Given the description of an element on the screen output the (x, y) to click on. 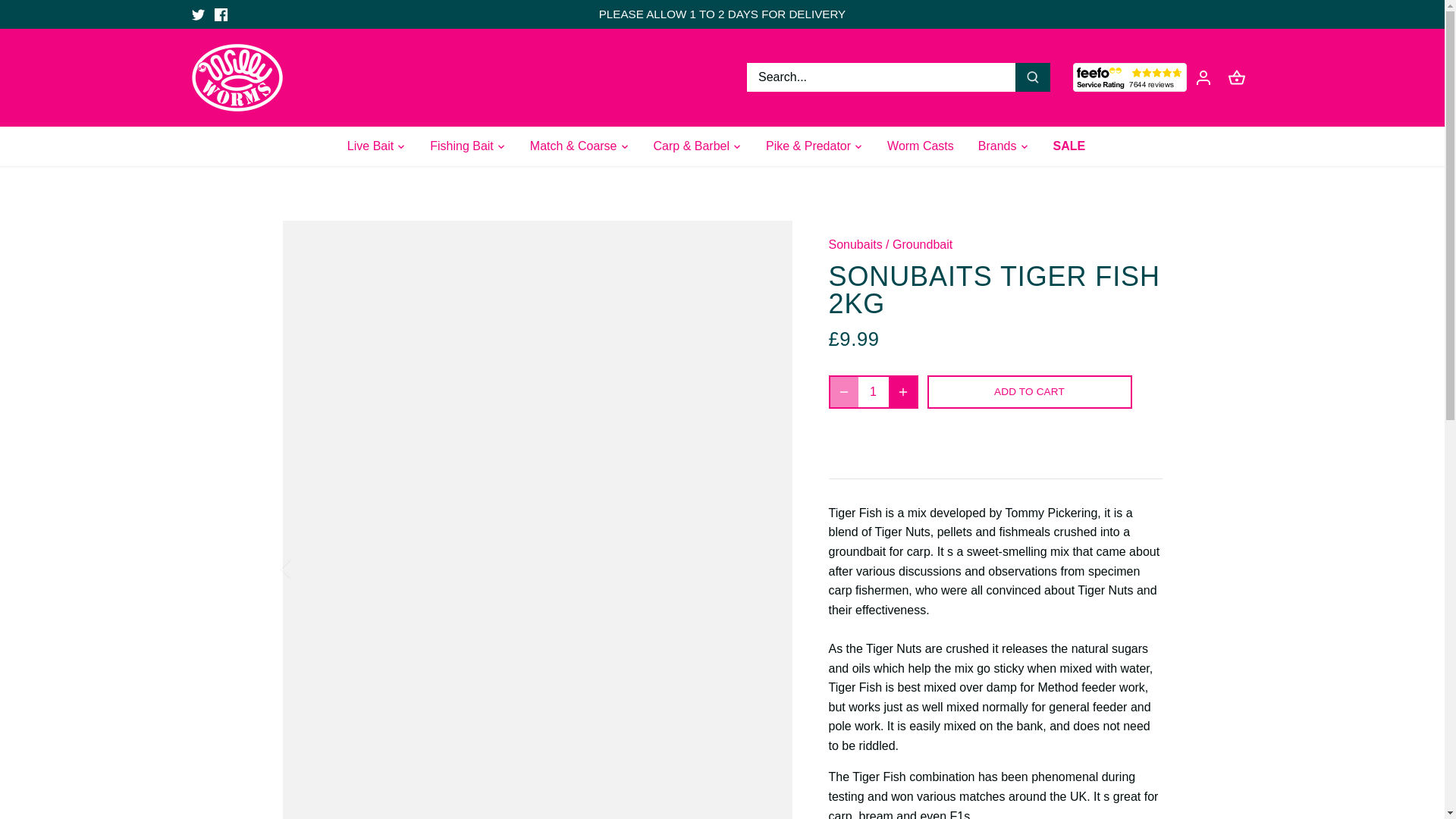
Our customer Feefo rating (1128, 77)
Live Bait (376, 146)
Facebook (220, 14)
Twitter (196, 14)
1 (873, 391)
PLEASE ALLOW 1 TO 2 DAYS FOR DELIVERY (721, 13)
Fishing Bait (461, 146)
